Given the description of an element on the screen output the (x, y) to click on. 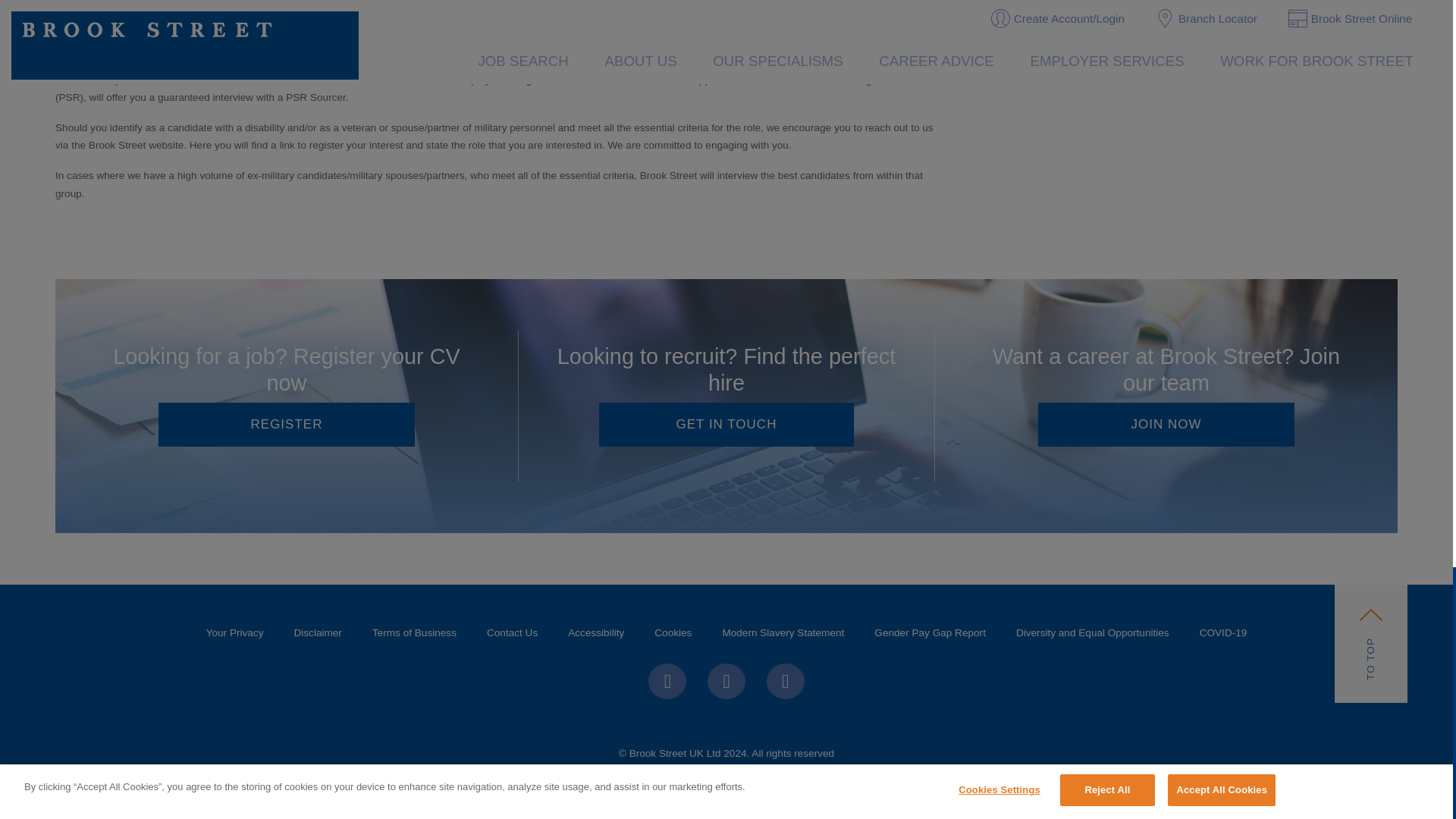
Terms of Business (413, 633)
Diversity and Equal Opportunities (1093, 633)
GET IN TOUCH (725, 424)
Accessibility (596, 633)
Modern Slavery Statement (782, 633)
Your Privacy (234, 633)
Disclaimer (317, 633)
Gender Pay Gap Report (930, 633)
JOIN NOW (1166, 424)
Contact Us (512, 633)
REGISTER (285, 424)
Cookies (672, 633)
